Given the description of an element on the screen output the (x, y) to click on. 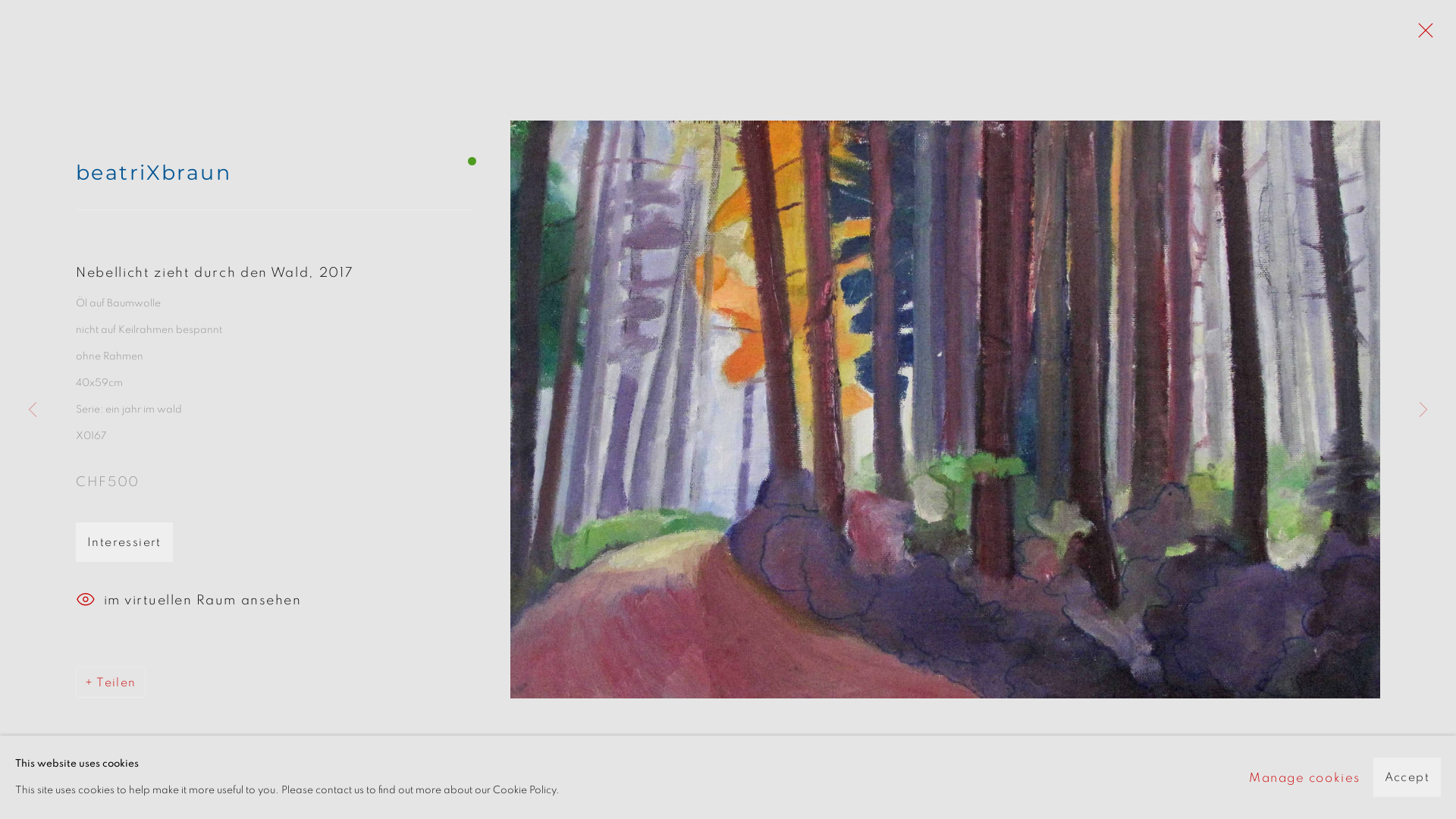
Facebook
, opens in a new tab. Element type: text (1292, 480)
Kunstwerke der Kunstmalerin beatriXbraun Element type: text (364, 231)
im virtuellen Raum ansehen Element type: text (266, 600)
Zeichnungen Element type: text (1178, 306)
Previous Element type: text (32, 409)
Manage cookies Element type: text (1303, 776)
Accept Element type: text (1406, 777)
Manage cookies Element type: text (159, 477)
Instagram
, opens in a new tab. Element type: text (1317, 480)
Teilen Element type: text (110, 682)
Close Element type: text (1421, 33)
Go Element type: text (10, 6)
Site by Artlogic Element type: text (418, 504)
ein jahr im wald Element type: text (1294, 306)
Open a larger version of the following image in a popup: Element type: text (945, 409)
Interessiert Element type: text (123, 541)
Email senden Element type: text (1341, 480)
Alle Element type: text (1021, 306)
